Given the description of an element on the screen output the (x, y) to click on. 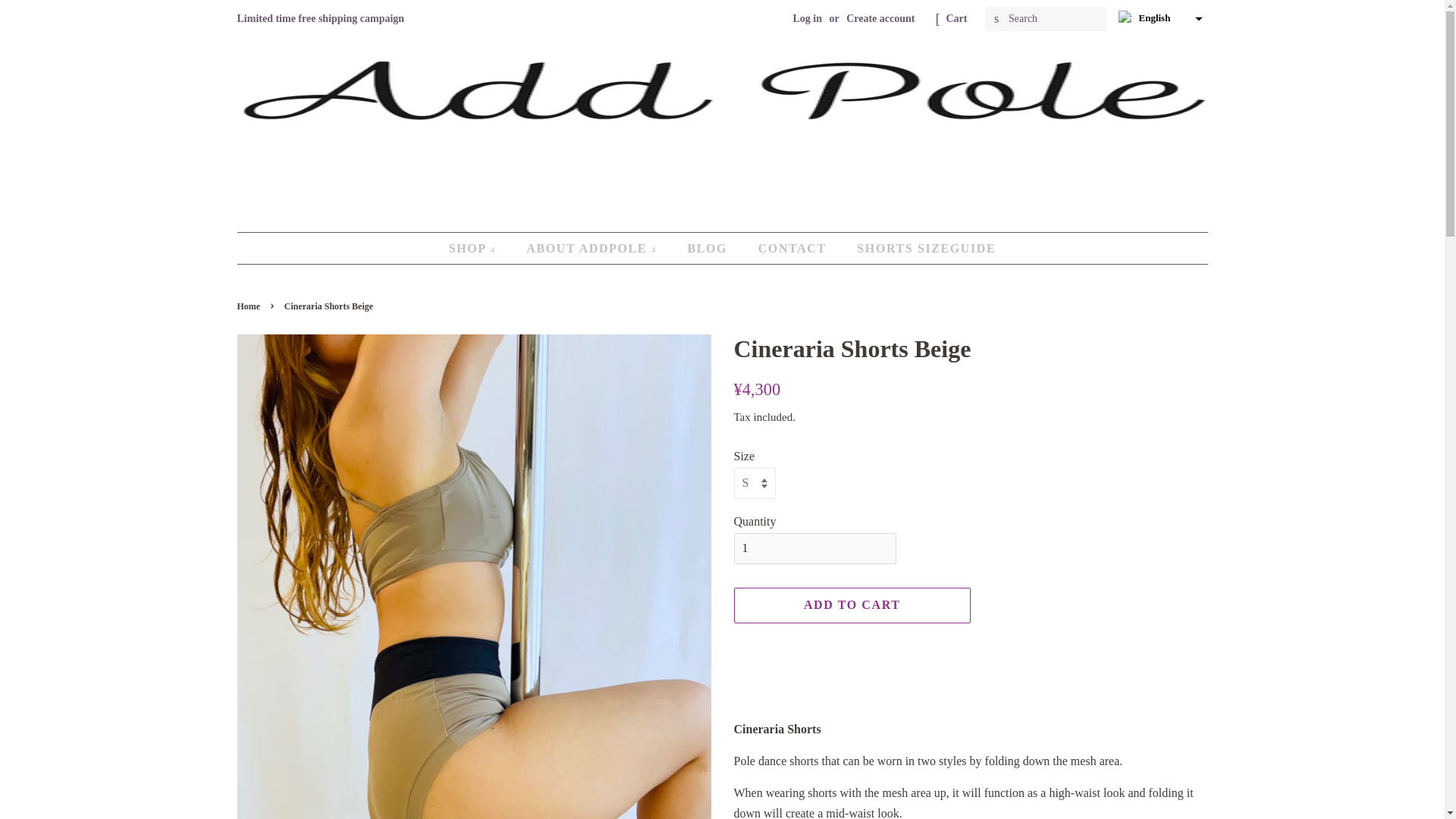
1 (814, 548)
Limited time free shipping campaign (319, 18)
BLOG (708, 247)
Back to the frontpage (249, 306)
SEARCH (997, 18)
Cart (957, 18)
Home (249, 306)
CONTACT (793, 247)
SHORTS SIZEGUIDE (920, 247)
Create account (879, 18)
